Given the description of an element on the screen output the (x, y) to click on. 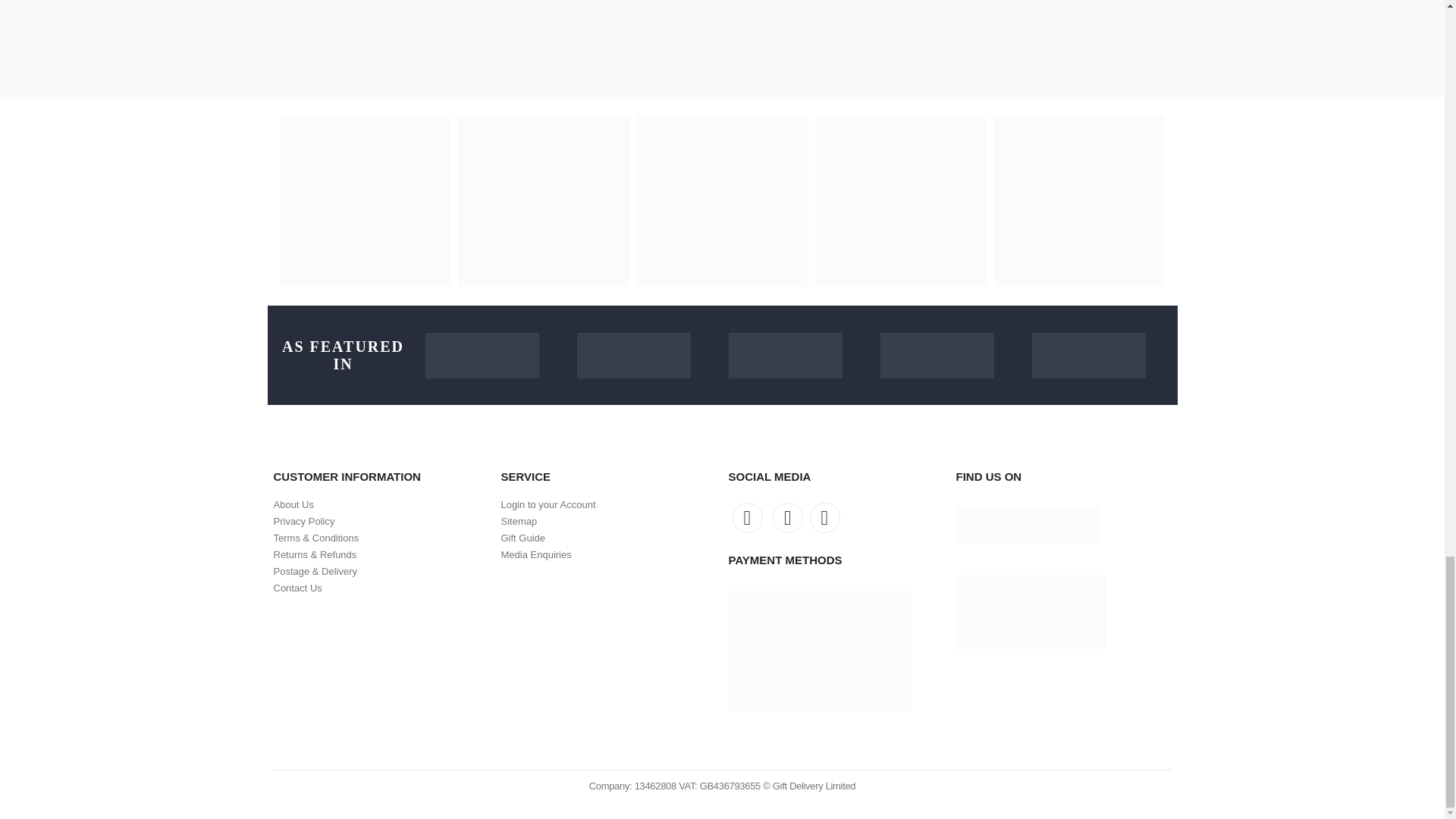
the-sun-web-white (481, 355)
hello-magzine-white-web-2 (633, 355)
martha-stewart-logo (784, 355)
